Given the description of an element on the screen output the (x, y) to click on. 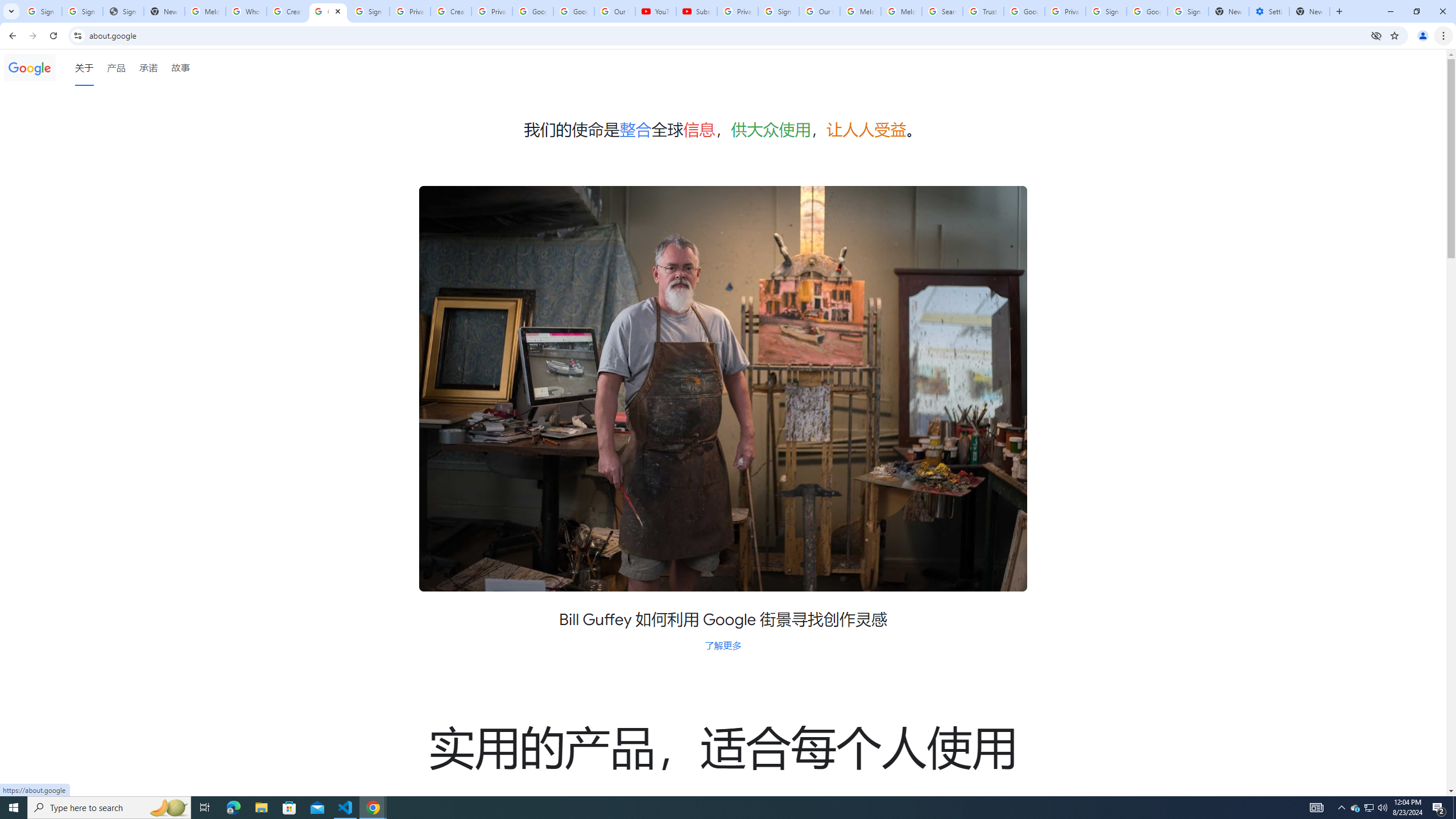
Sign in - Google Accounts (777, 11)
